Given the description of an element on the screen output the (x, y) to click on. 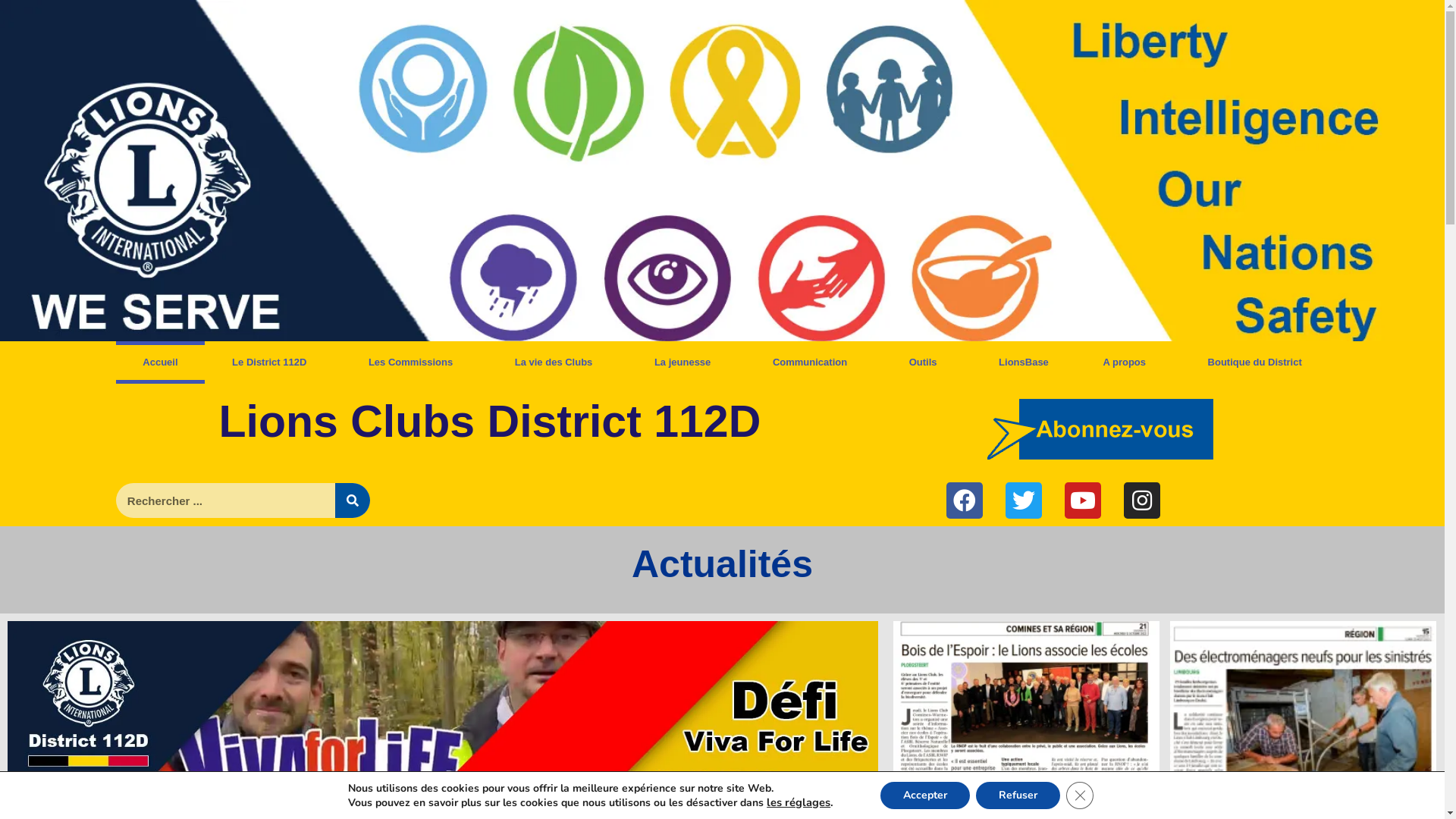
Accueil Element type: text (159, 362)
Lions Clubs District 112D Element type: text (490, 421)
Le District 112D Element type: text (272, 362)
LionsBase Element type: text (1023, 362)
Les Commissions Element type: text (414, 362)
Boutique du District Element type: text (1254, 362)
A propos Element type: text (1128, 362)
Accepter Element type: text (924, 795)
Communication Element type: text (813, 362)
Refuser Element type: text (1017, 795)
La vie des Clubs Element type: text (557, 362)
La jeunesse Element type: text (686, 362)
Close GDPR Cookie Banner Element type: text (1079, 795)
Outils Element type: text (926, 362)
